Given the description of an element on the screen output the (x, y) to click on. 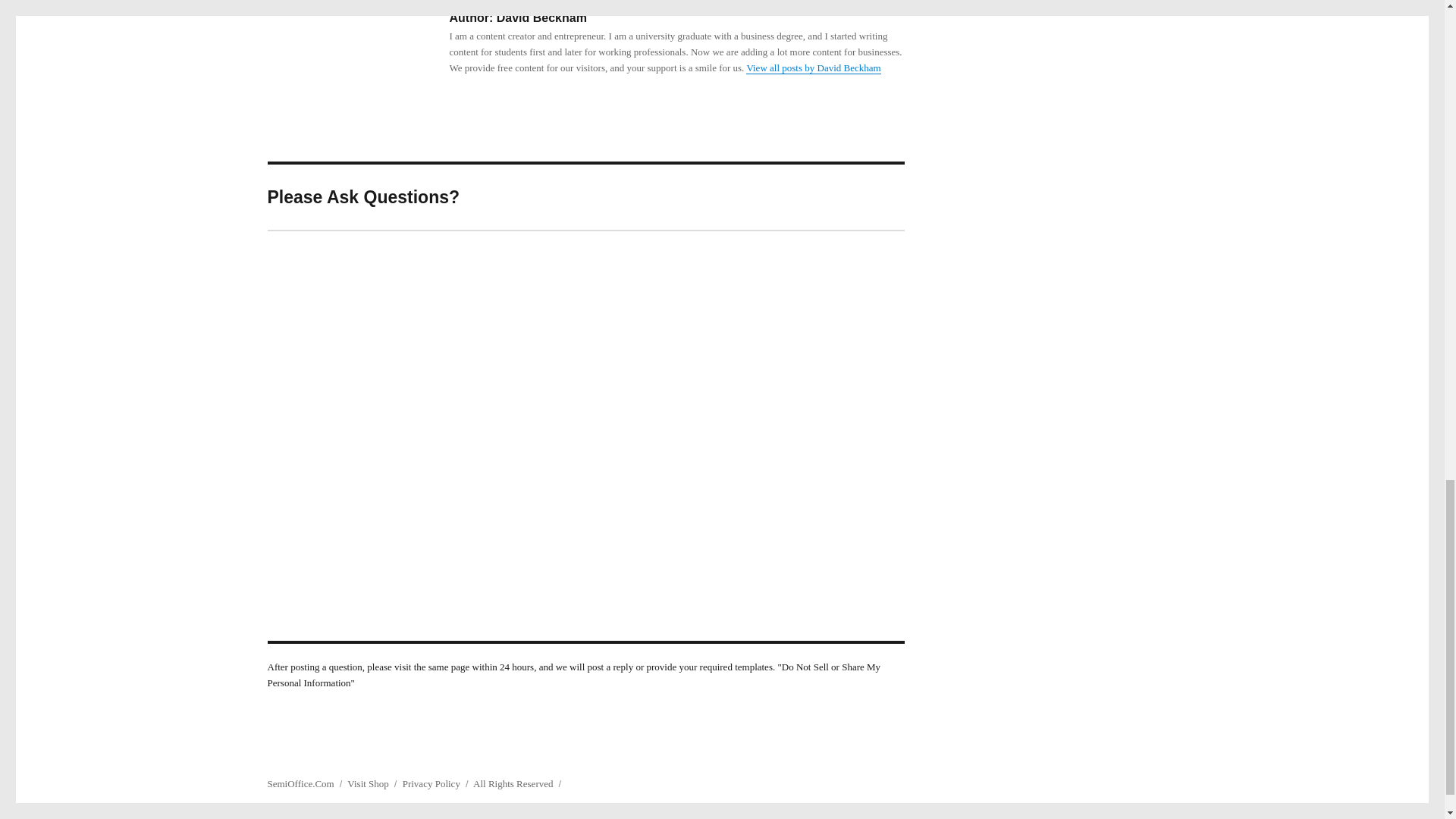
Privacy Policy (431, 783)
View all posts by David Beckham (812, 67)
SemiOffice.Com (299, 783)
Visit Shop (367, 783)
All Rights Reserved (513, 783)
